Given the description of an element on the screen output the (x, y) to click on. 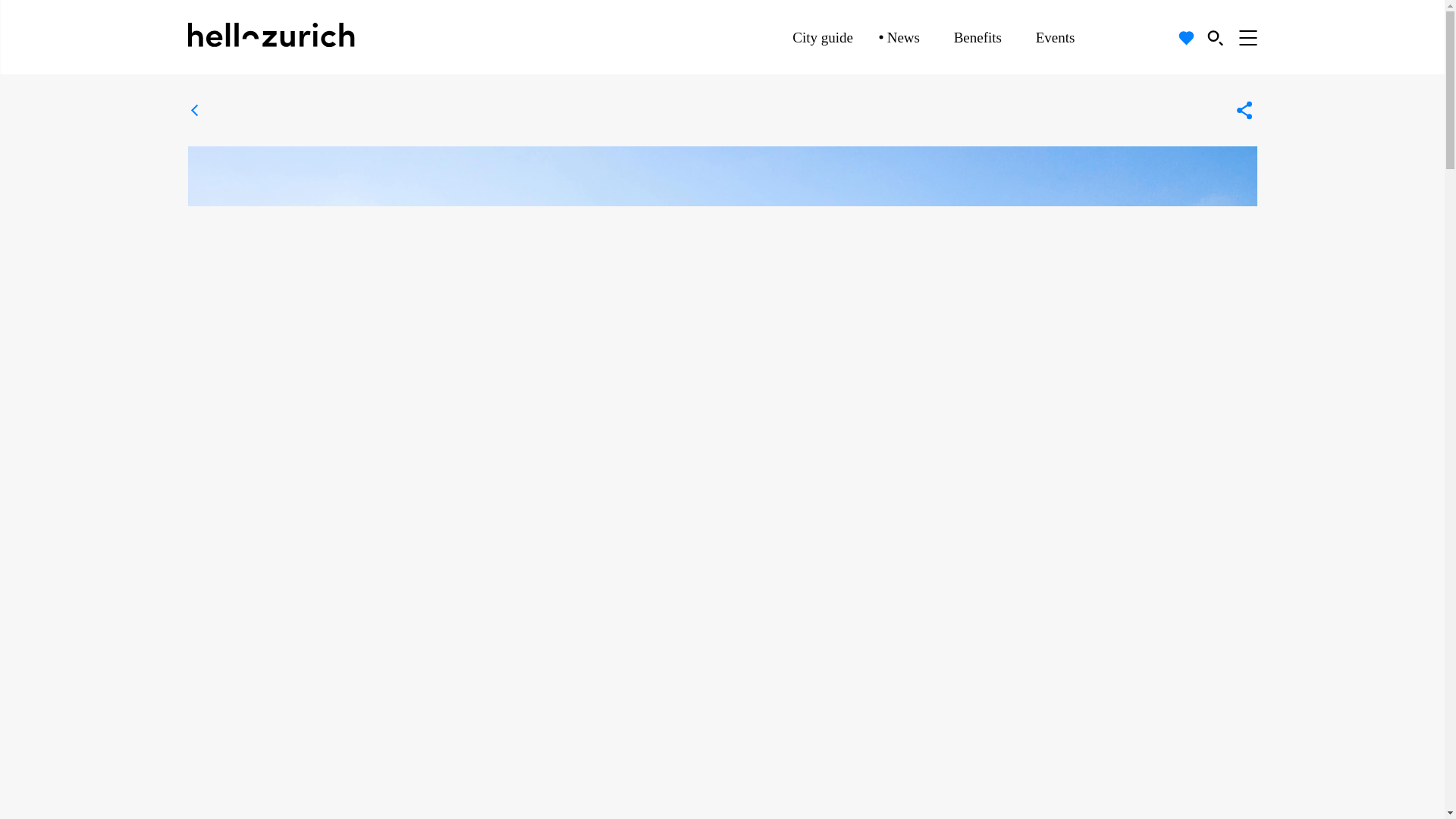
Search (1215, 37)
City guide (822, 37)
Events (1055, 37)
Benefits (977, 37)
News (903, 37)
